Given the description of an element on the screen output the (x, y) to click on. 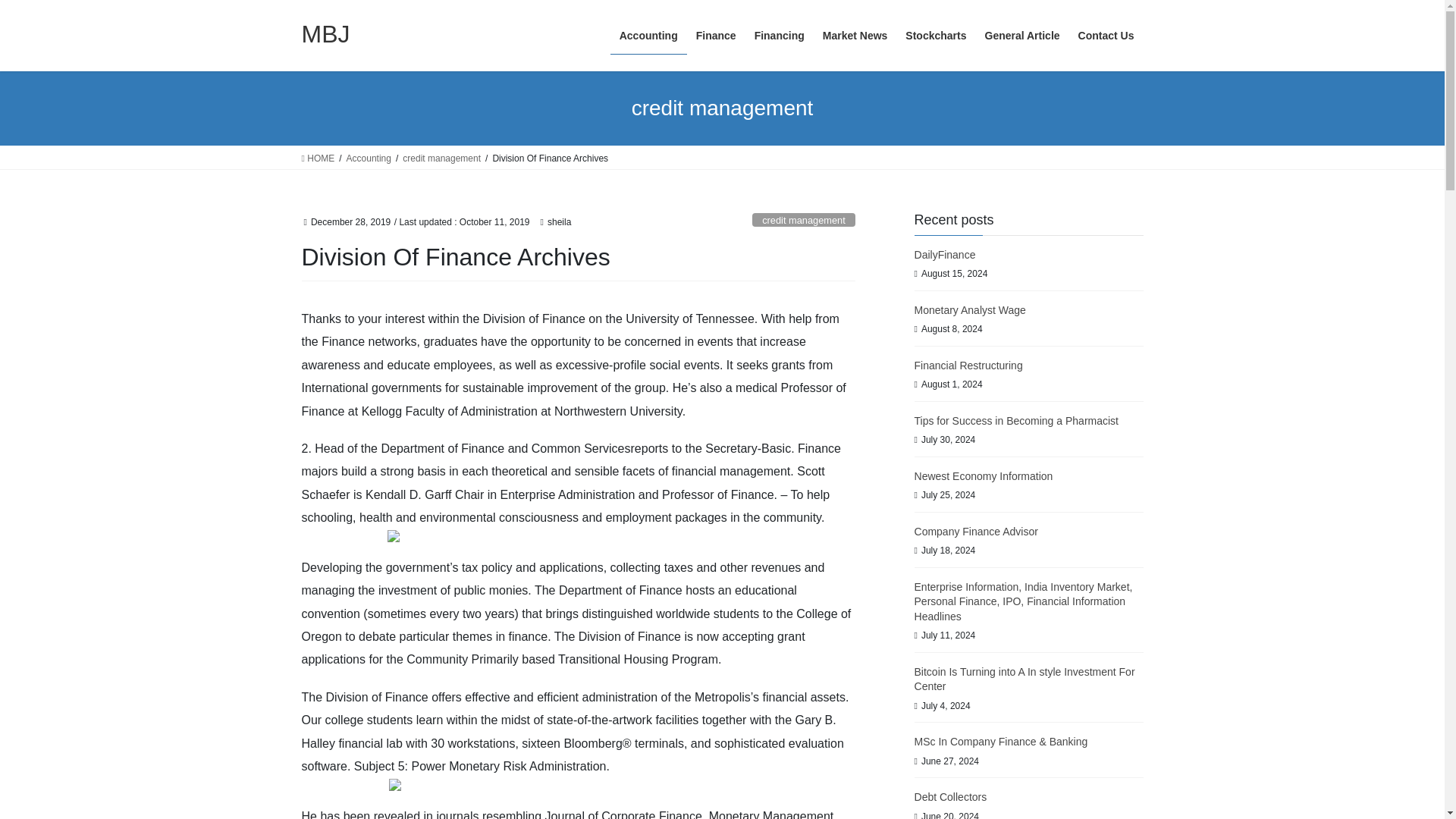
Financing (779, 36)
Finance (716, 36)
General Article (1021, 36)
HOME (317, 157)
MBJ (325, 33)
Stockcharts (935, 36)
credit management (803, 219)
Accounting (648, 36)
Contact Us (1105, 36)
Market News (854, 36)
